Given the description of an element on the screen output the (x, y) to click on. 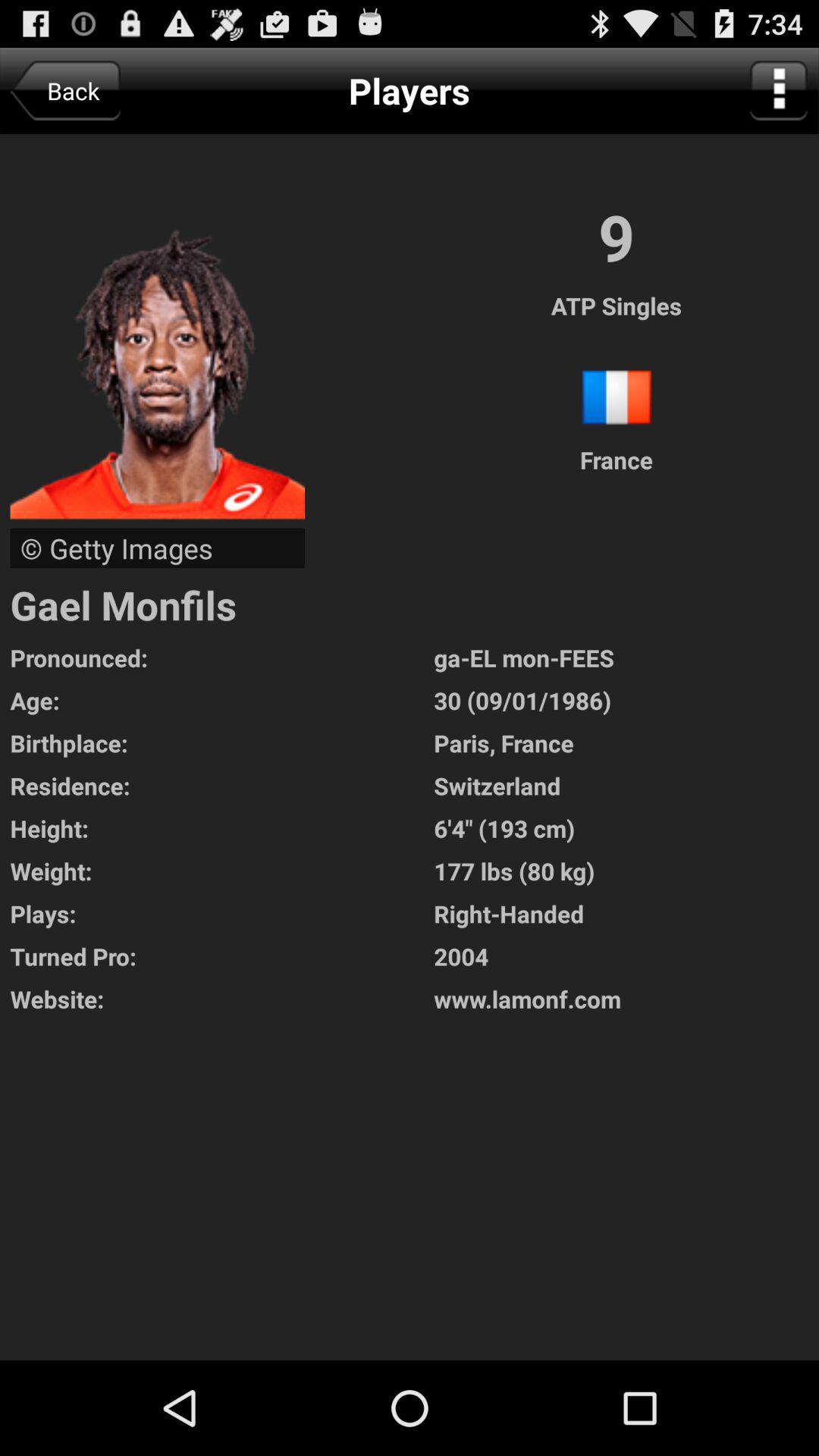
jump to the ga el mon icon (626, 657)
